Given the description of an element on the screen output the (x, y) to click on. 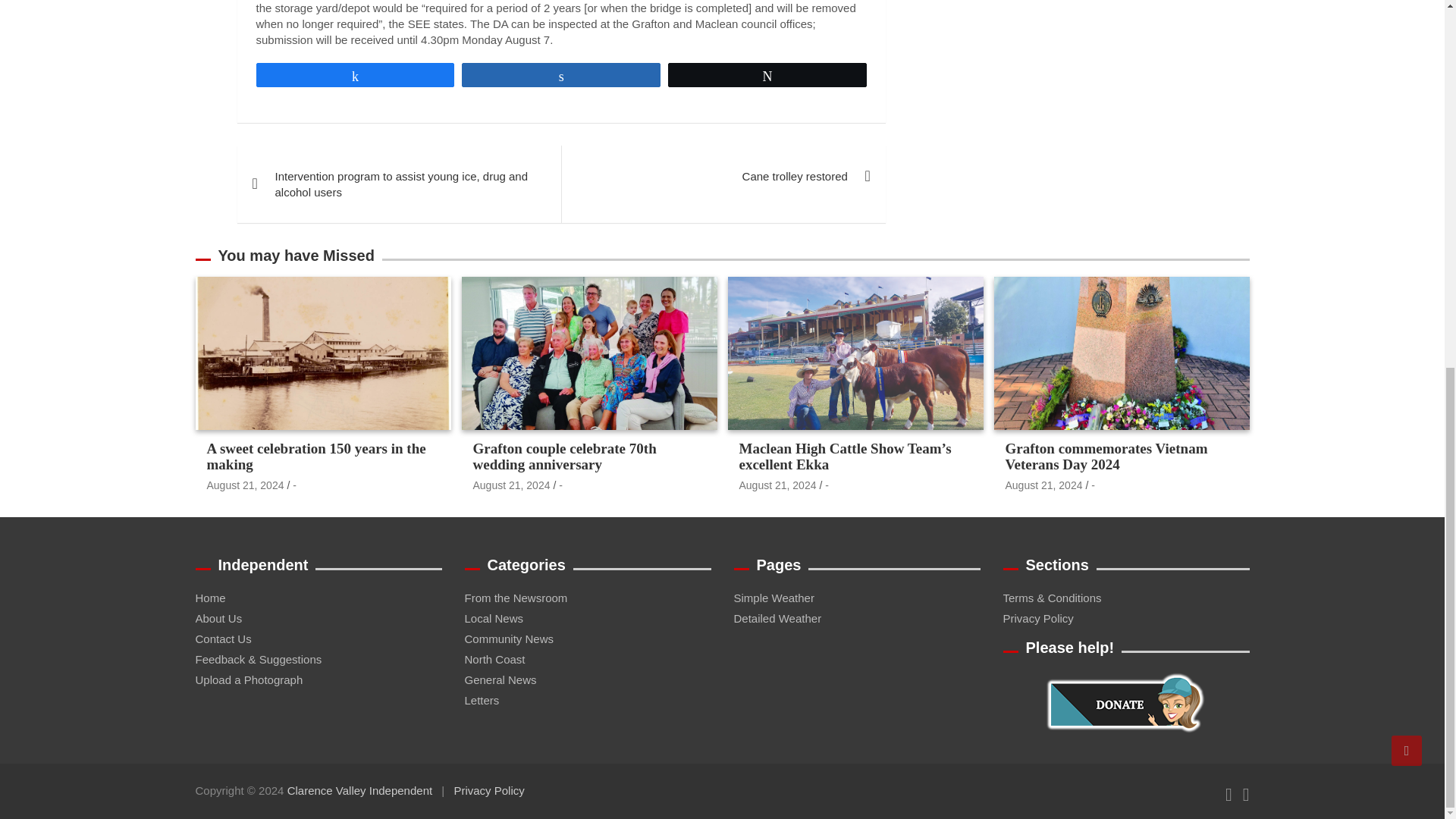
Go to Top (1406, 86)
Grafton couple celebrate 70th wedding anniversary (511, 485)
Grafton commemorates Vietnam Veterans Day 2024 (1044, 485)
Clarence Valley Independent (359, 789)
A sweet celebration 150 years in the making (244, 485)
